Given the description of an element on the screen output the (x, y) to click on. 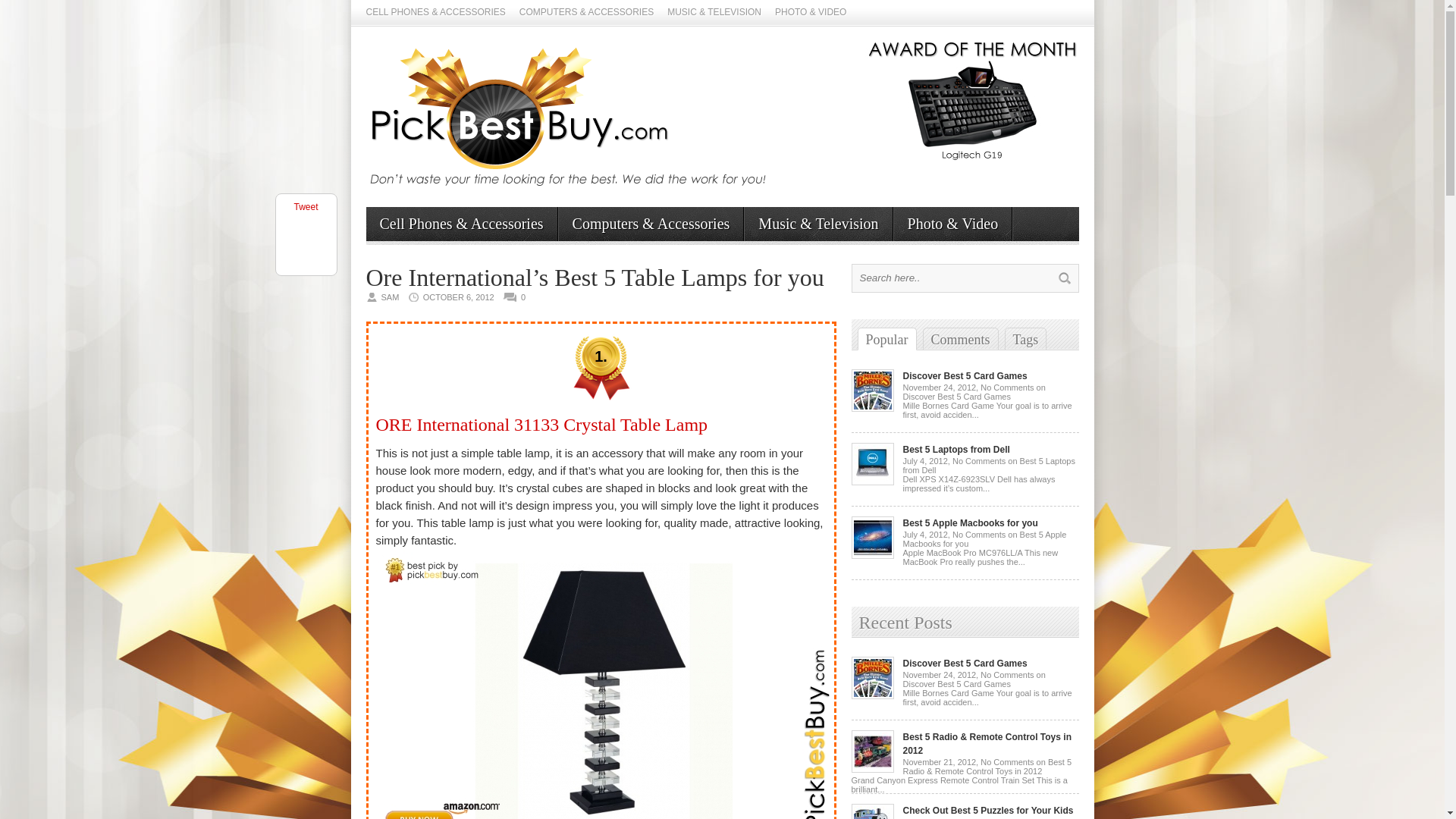
Best 5 Apple Macbooks for you (969, 522)
Tweet (305, 206)
Discover Best 5 Card Games (964, 376)
ORE International 31133 Crystal Table Lamp (541, 424)
Best 5 Apple Macbooks for you (969, 522)
Discover Best 5 Card Games (871, 696)
Discover Best 5 Card Games (871, 408)
No Comments on Best 5 Apple Macbooks for you (983, 538)
Best 5 Laptops from Dell (871, 481)
Comments (960, 338)
